Given the description of an element on the screen output the (x, y) to click on. 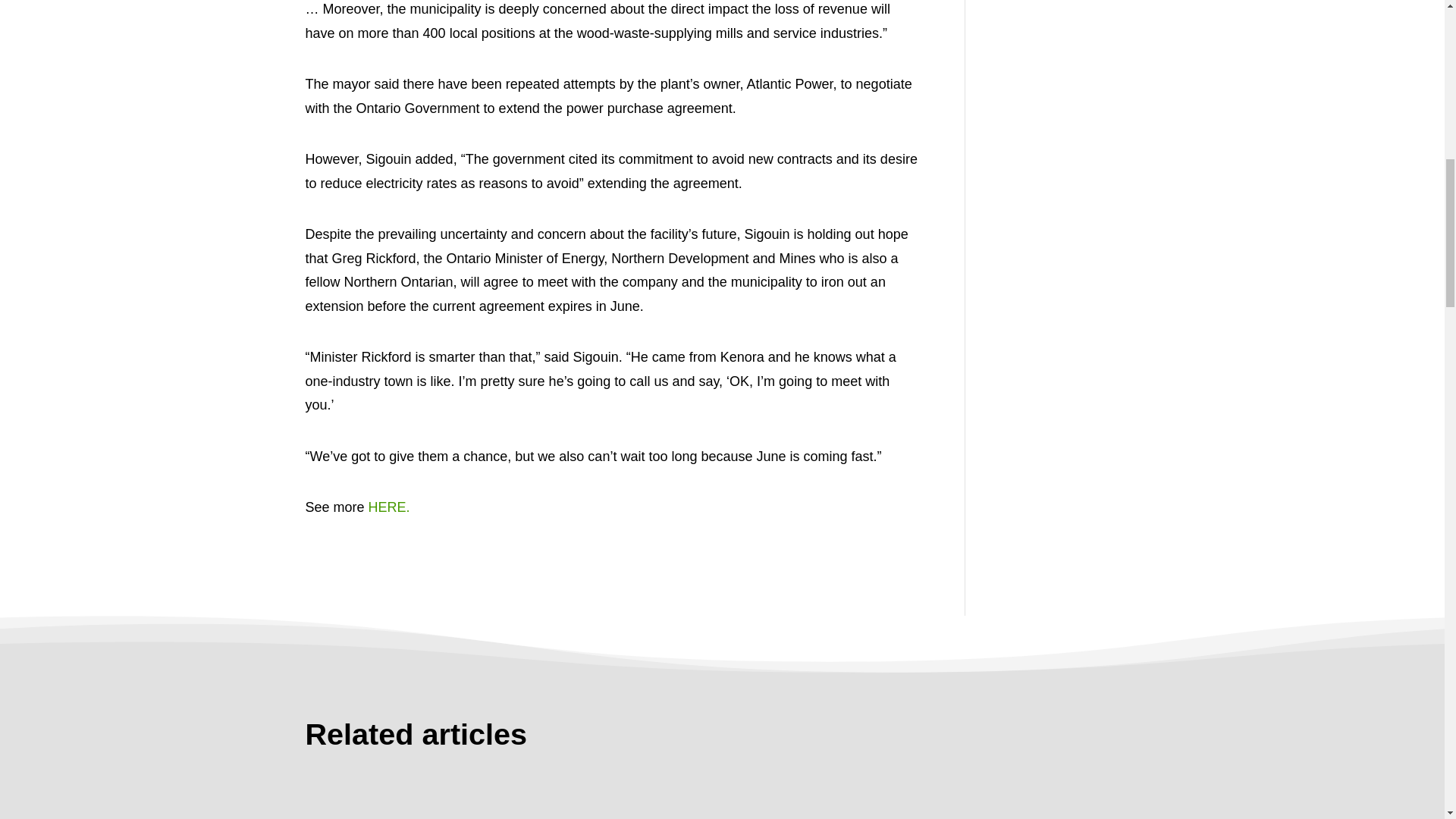
HERE. (387, 507)
